Given the description of an element on the screen output the (x, y) to click on. 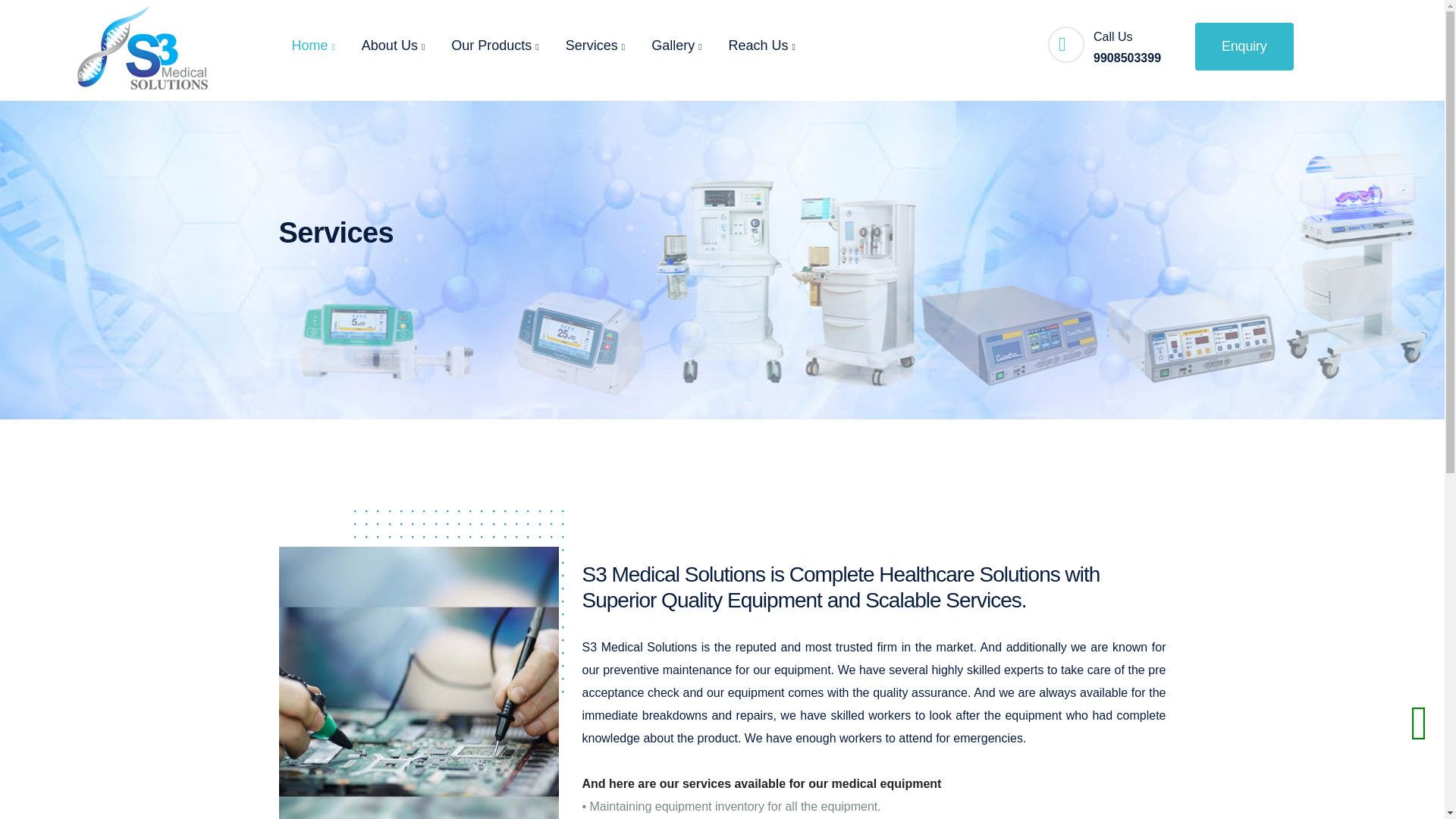
Our Products (494, 46)
9908503399 (1126, 57)
Enquiry (1244, 46)
